Given the description of an element on the screen output the (x, y) to click on. 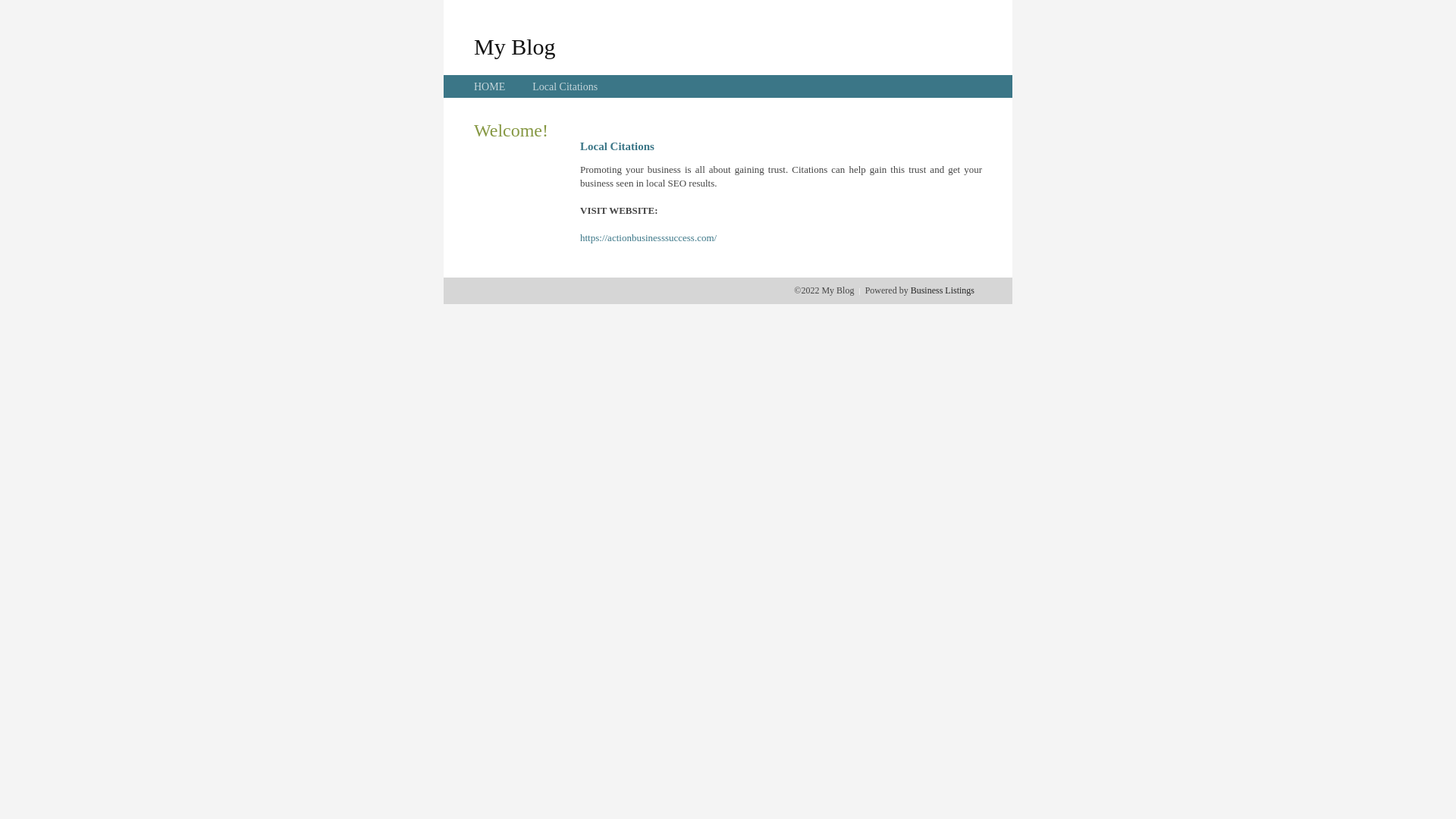
Local Citations Element type: text (564, 86)
My Blog Element type: text (514, 46)
Business Listings Element type: text (942, 290)
HOME Element type: text (489, 86)
https://actionbusinesssuccess.com/ Element type: text (648, 237)
